Given the description of an element on the screen output the (x, y) to click on. 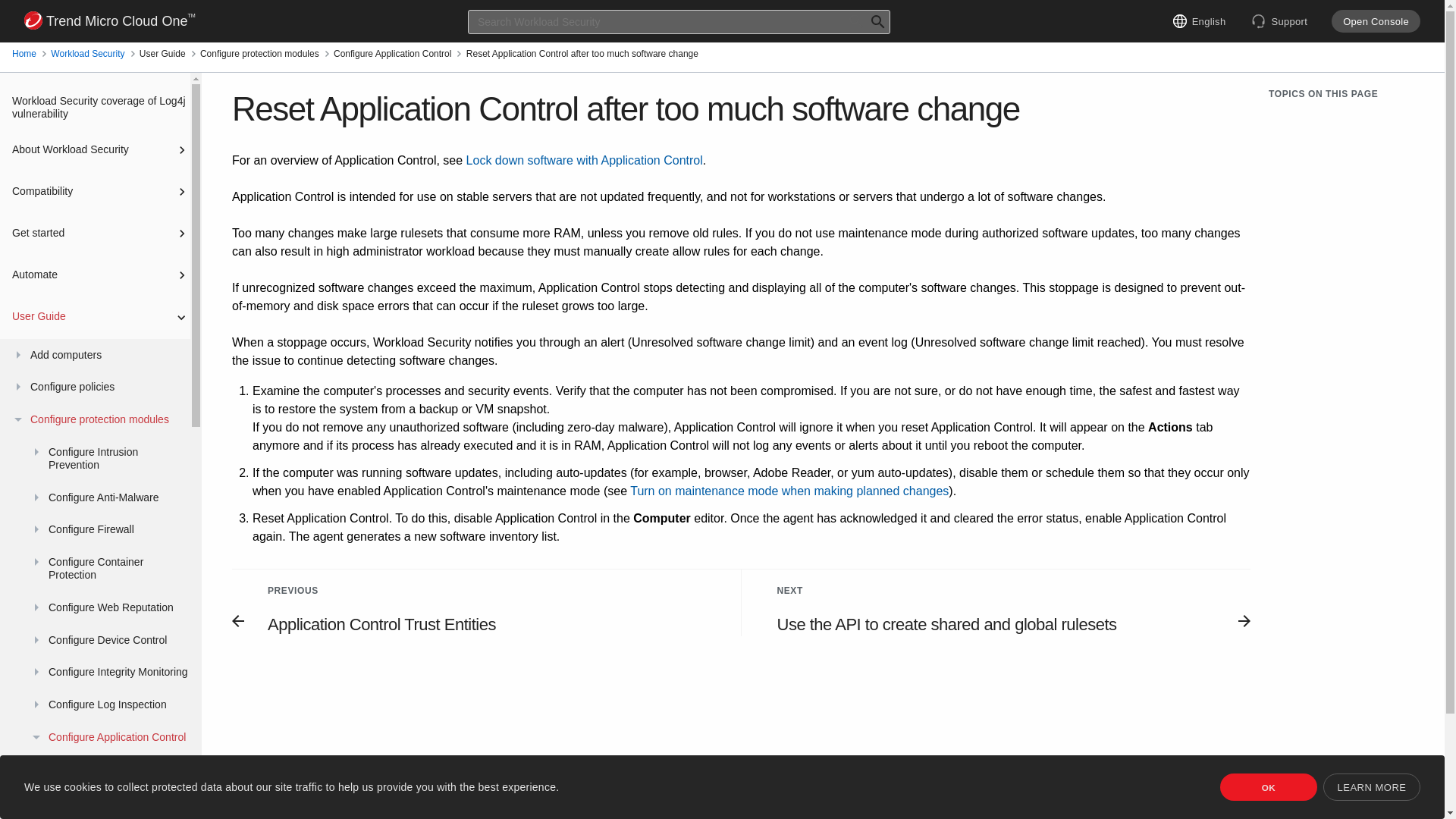
Workload Security coverage of Log4j vulnerability (96, 107)
Workload Security (86, 54)
Trend Micro Cloud OneTM (109, 20)
Home (23, 54)
OK (1268, 786)
Type search term here (678, 21)
LEARN MORE (1372, 786)
Open Console (1376, 20)
